Given the description of an element on the screen output the (x, y) to click on. 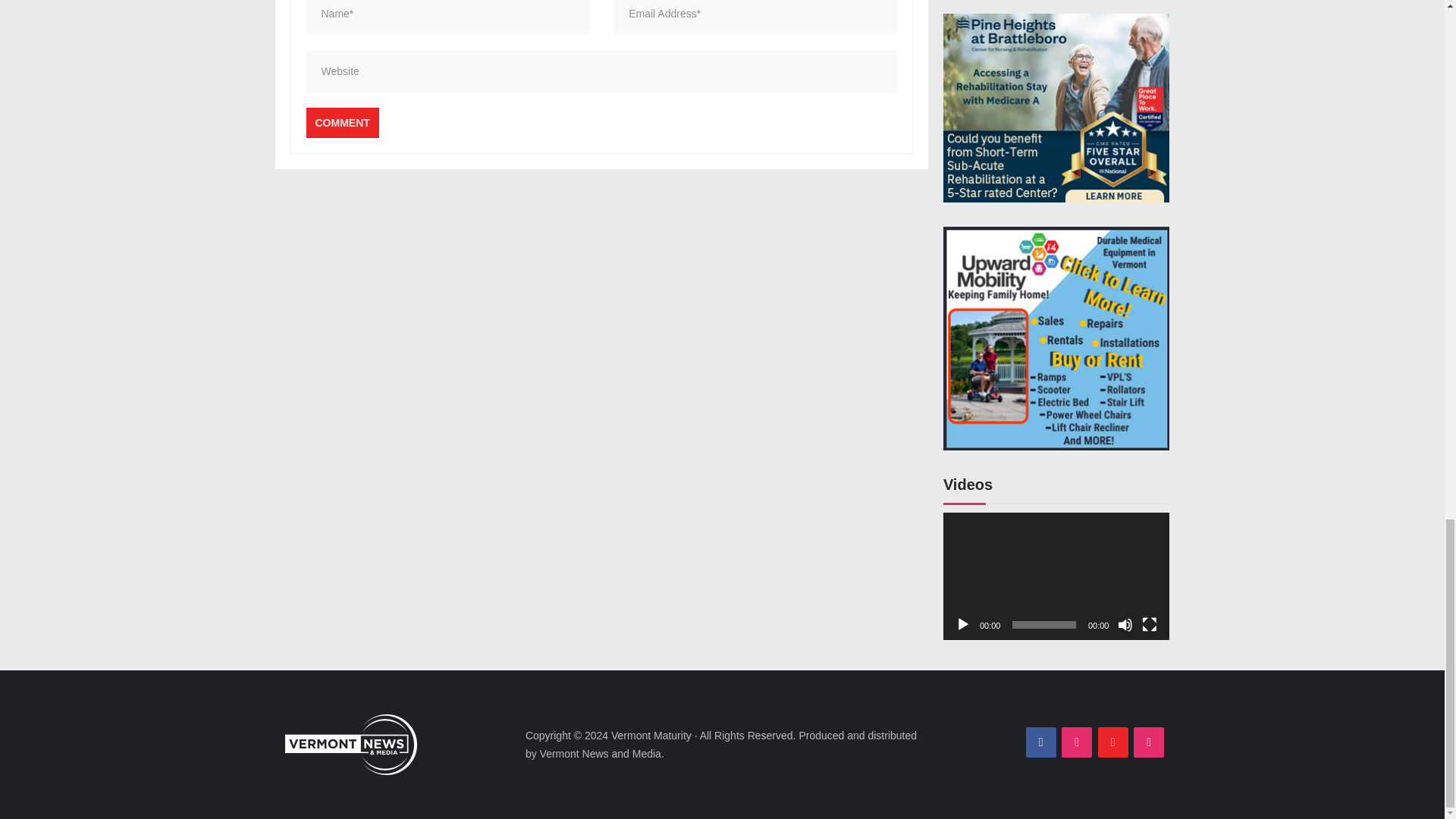
Comment (341, 122)
Mute (1125, 624)
Fullscreen (1149, 624)
Play (963, 624)
